Given the description of an element on the screen output the (x, y) to click on. 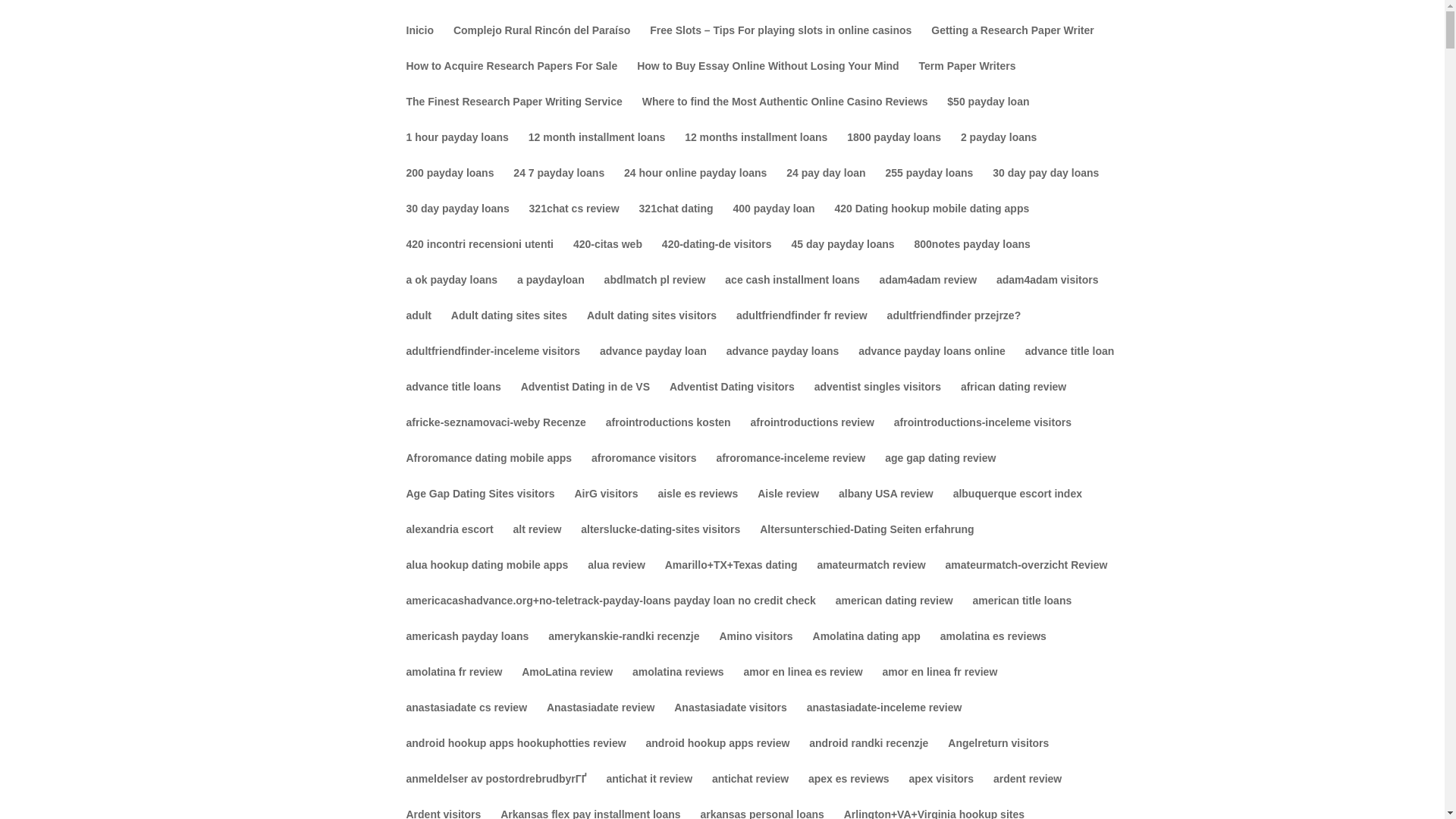
The Finest Research Paper Writing Service (514, 113)
Adult dating sites sites (509, 327)
a ok payday loans (451, 292)
12 months installment loans (755, 149)
24 hour online payday loans (695, 185)
200 payday loans (450, 185)
Where to find the Most Authentic Online Casino Reviews (785, 113)
Term Paper Writers (967, 78)
adam4adam review (927, 292)
How to Acquire Research Papers For Sale (511, 78)
1800 payday loans (893, 149)
Inicio (419, 42)
400 payday loan (772, 221)
ace cash installment loans (792, 292)
45 day payday loans (841, 256)
